Given the description of an element on the screen output the (x, y) to click on. 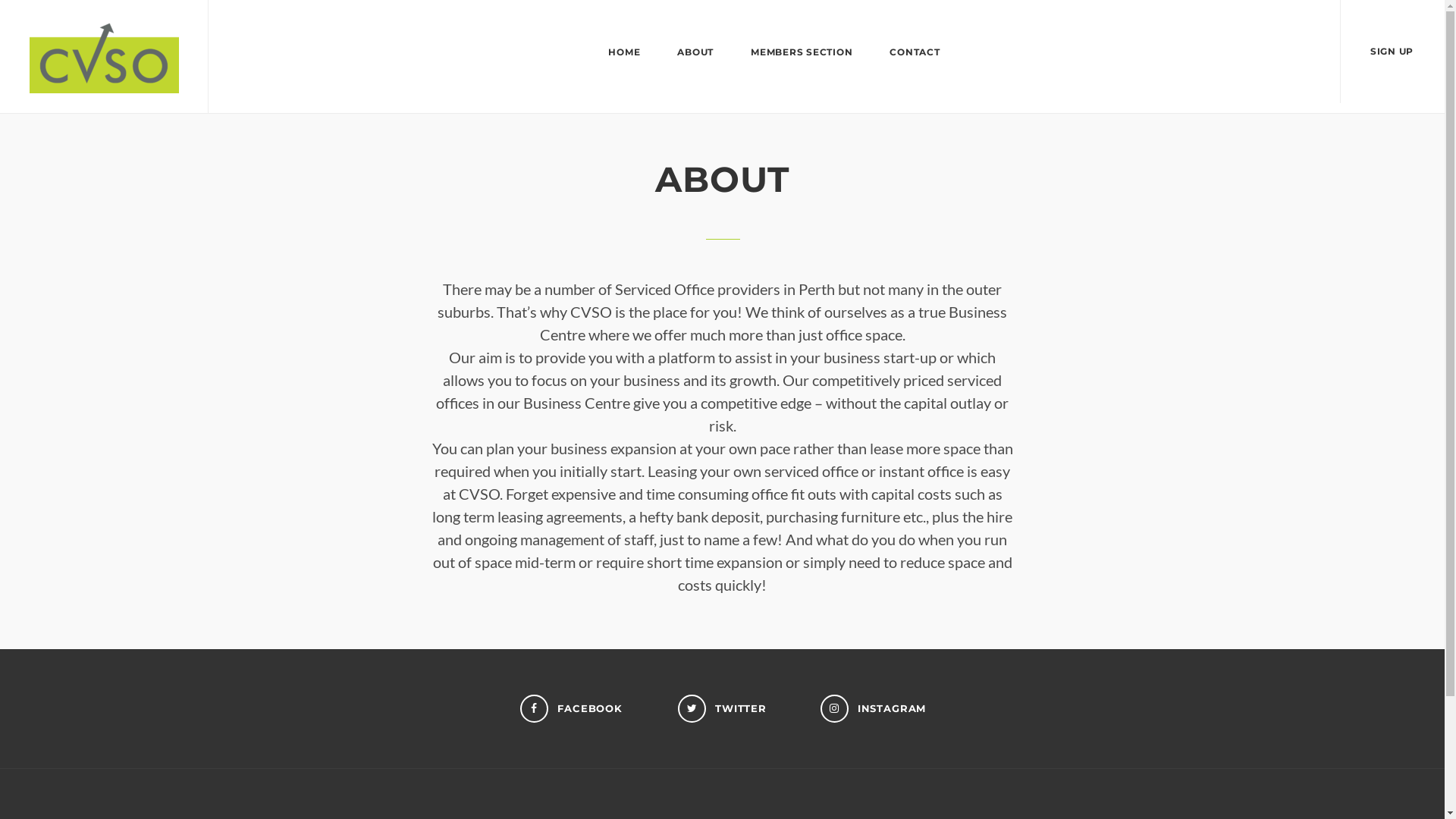
INSTAGRAM Element type: text (872, 708)
SIGN UP Element type: text (1391, 51)
TWITTER Element type: text (721, 708)
HOME Element type: text (624, 52)
ABOUT Element type: text (695, 52)
CONTACT Element type: text (914, 52)
FACEBOOK Element type: text (571, 708)
MEMBERS SECTION Element type: text (801, 52)
